Given the description of an element on the screen output the (x, y) to click on. 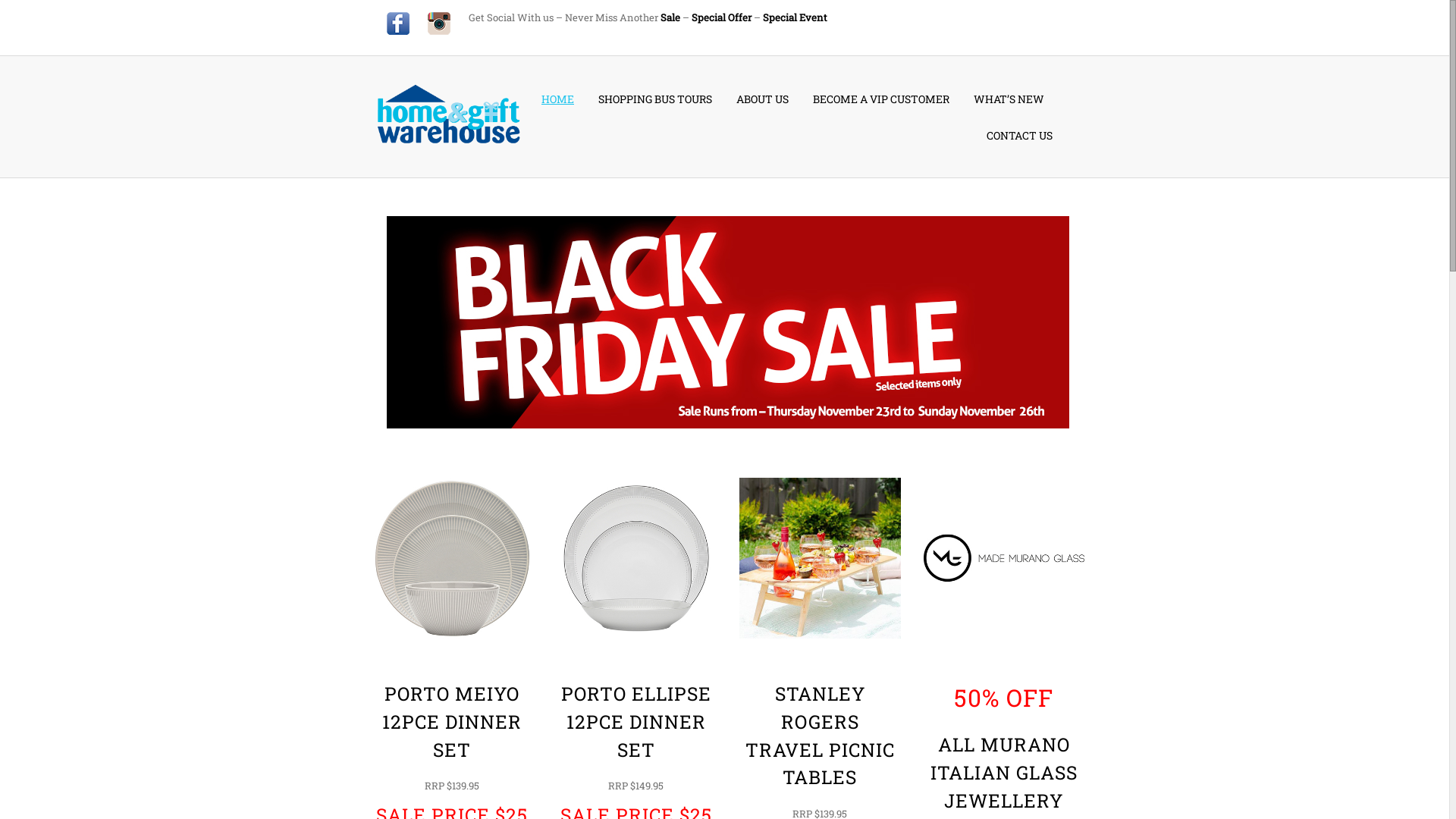
6126_hgw_black_friday_sale_web_banner_2023 Element type: hover (727, 321)
SR Picnic Large Table 2021 Element type: hover (819, 558)
Porto Meiyo Grey Dinner Set Element type: hover (452, 558)
nurano-logo-esteso Element type: hover (1004, 558)
CONTACT US Element type: text (1019, 134)
ABOUT US Element type: text (762, 98)
BECOME A VIP CUSTOMER Element type: text (881, 98)
SHOPPING BUS TOURS Element type: text (654, 98)
Porto Ellipse Dinner Set Element type: hover (635, 558)
HOME Element type: text (557, 98)
